Given the description of an element on the screen output the (x, y) to click on. 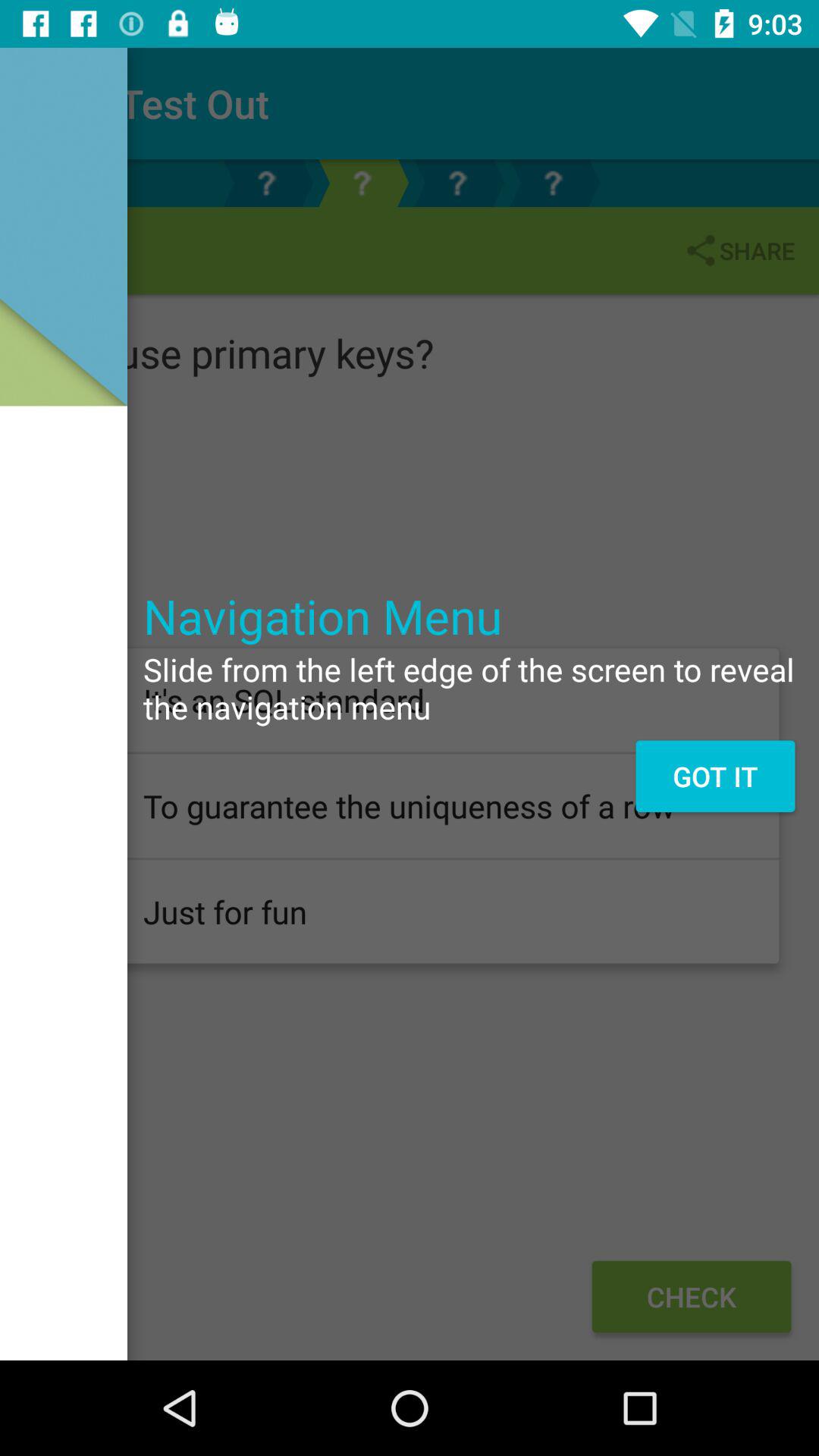
scroll to got it item (715, 776)
